Given the description of an element on the screen output the (x, y) to click on. 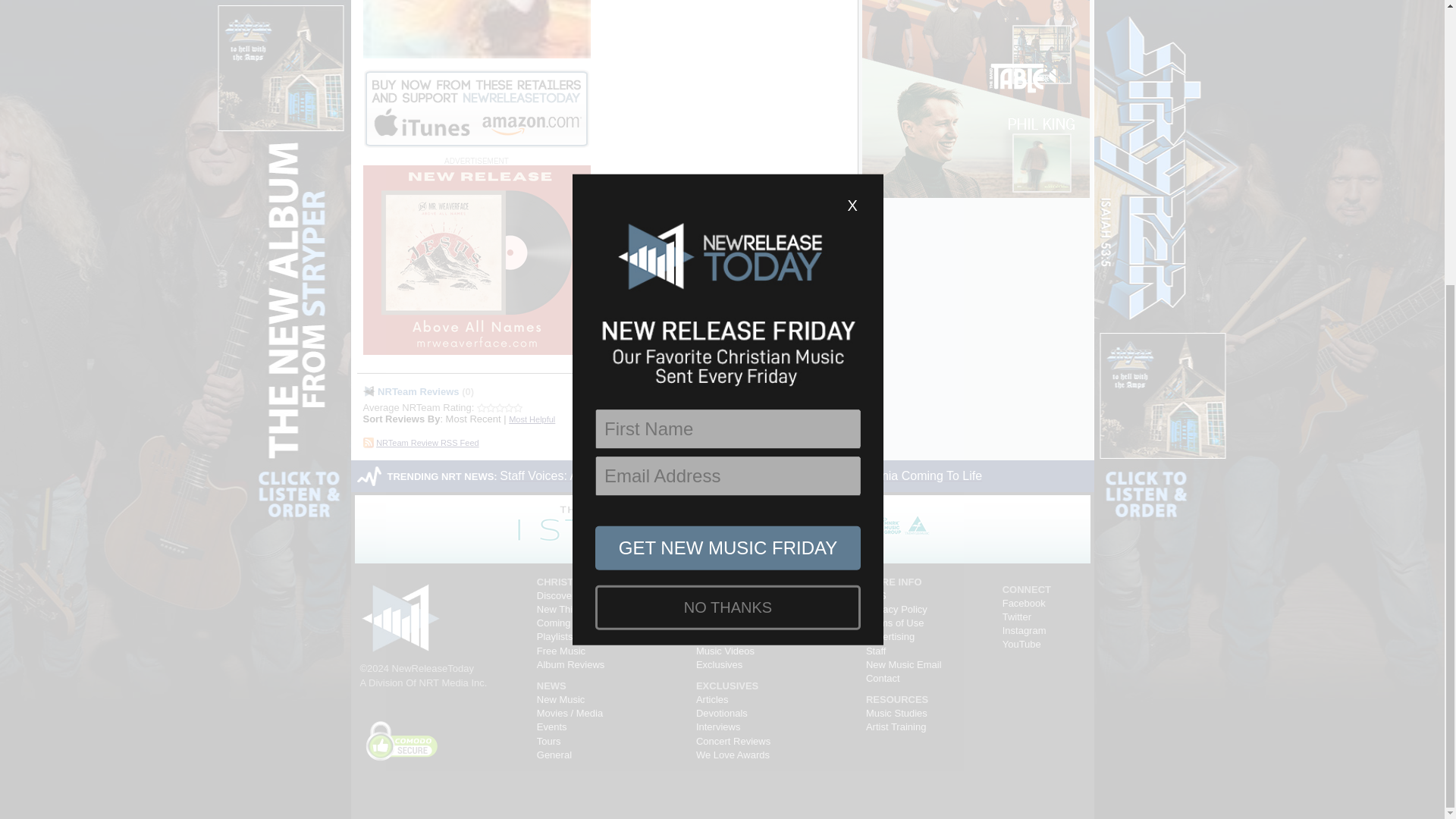
GET NEW MUSIC FRIDAY (727, 118)
NO THANKS (727, 177)
